Given the description of an element on the screen output the (x, y) to click on. 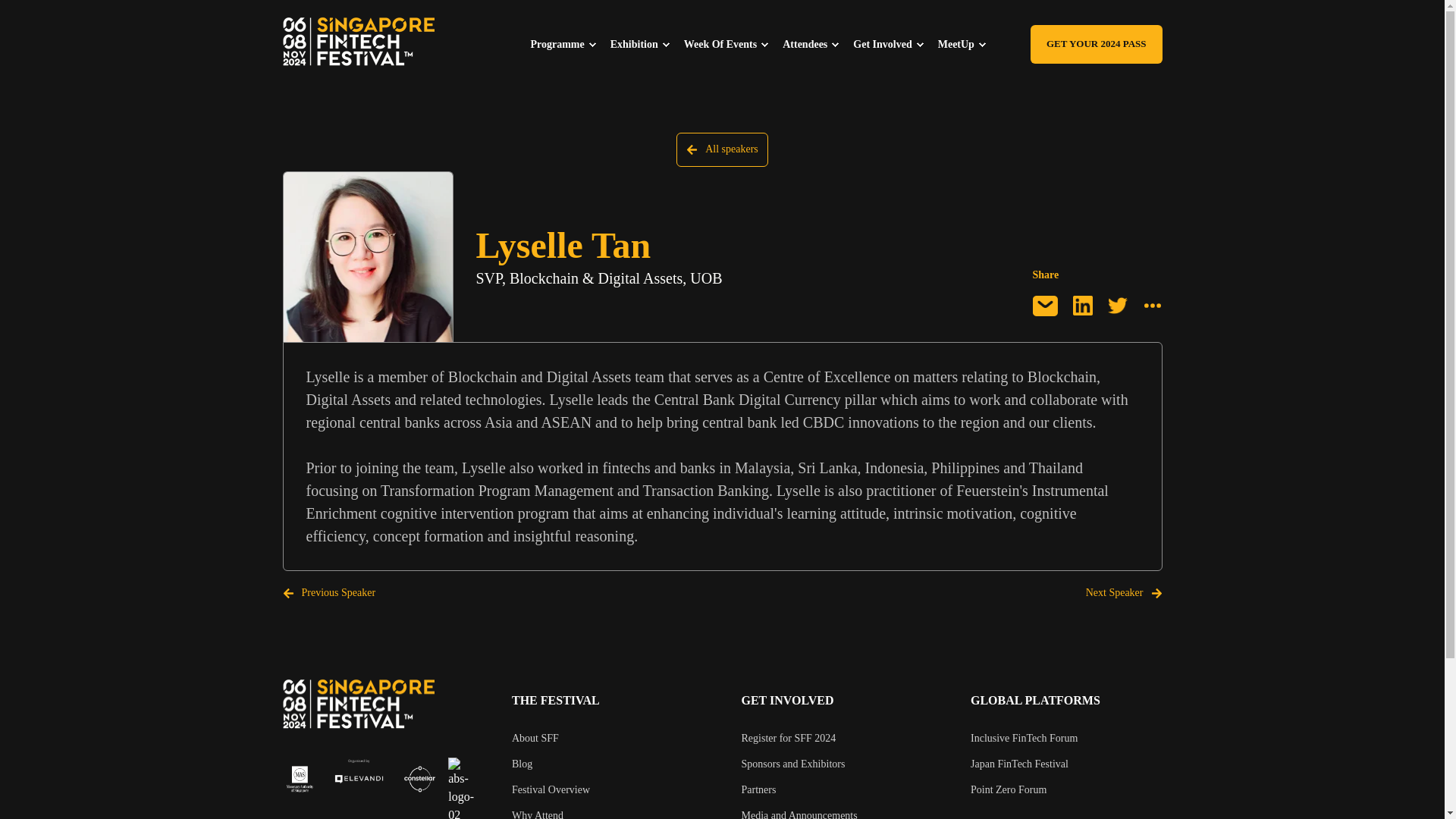
Programme (569, 43)
MeetUp (968, 43)
Week Of Events (733, 43)
Exhibition (647, 43)
Get Involved (895, 43)
Attendees (818, 43)
GET YOUR 2024 PASS (1095, 44)
